Given the description of an element on the screen output the (x, y) to click on. 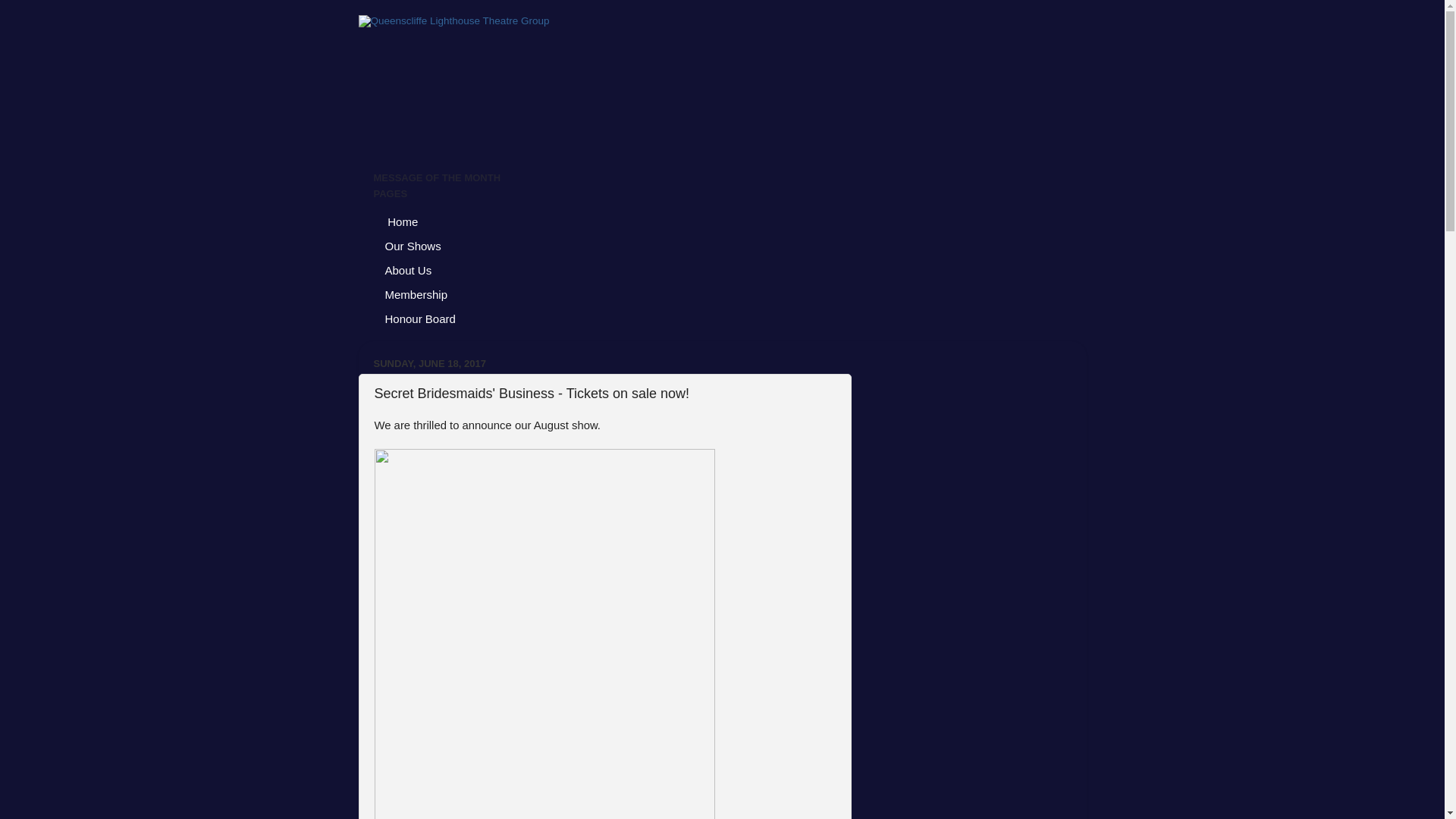
Home Element type: text (401, 222)
Honour Board Element type: text (420, 319)
Our Shows Element type: text (412, 246)
About Us Element type: text (408, 270)
Membership Element type: text (416, 294)
